Given the description of an element on the screen output the (x, y) to click on. 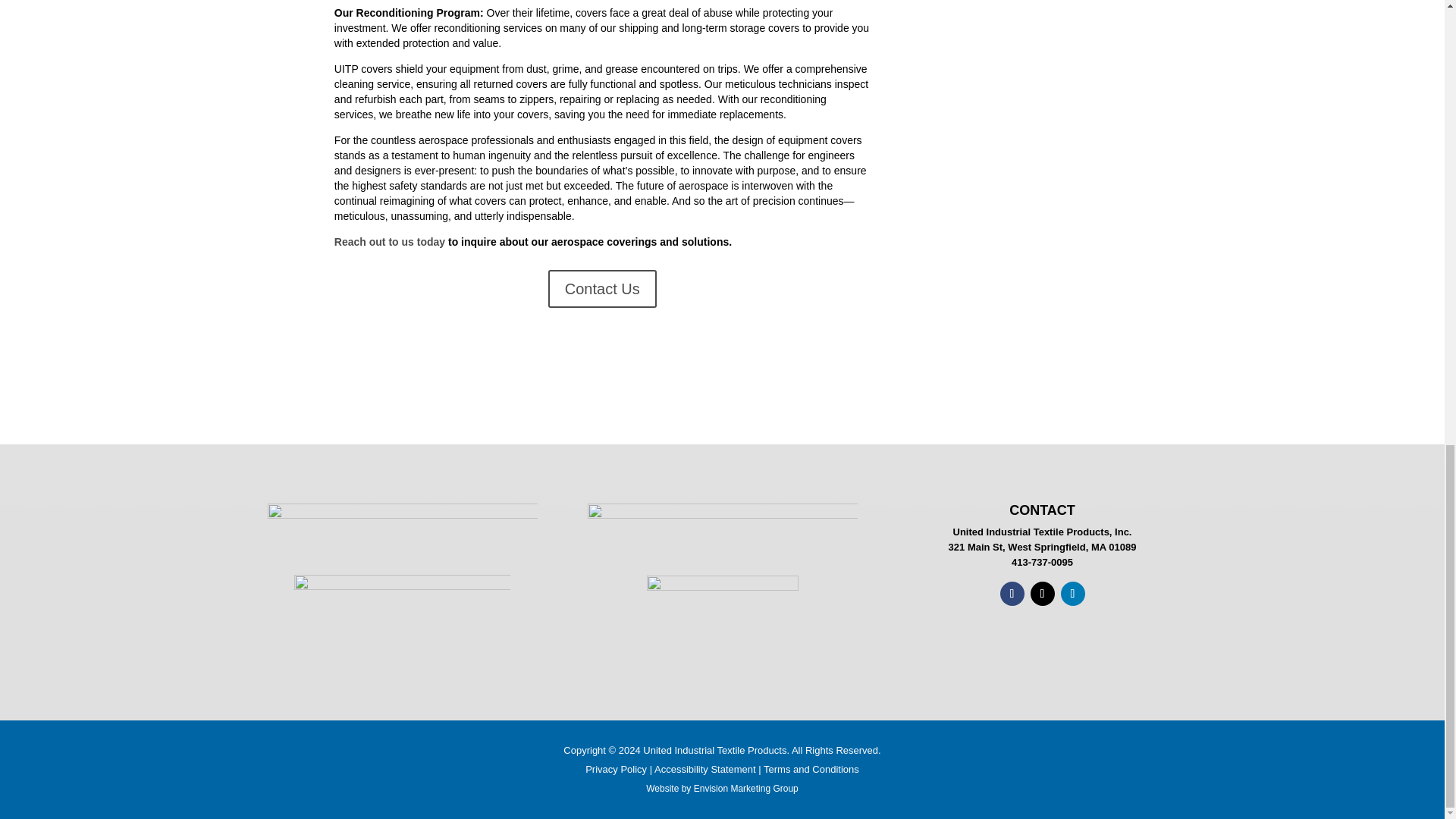
Horizontal Logo (401, 531)
Reach out to us today (389, 241)
bbb-horizontal-web (721, 609)
Envision Marketing Group (745, 787)
Privacy Policy (615, 768)
Contact Us (602, 288)
FooterBadges (721, 526)
MadeInUSA (402, 617)
Follow on Facebook (1010, 593)
Follow on X (1041, 593)
